Given the description of an element on the screen output the (x, y) to click on. 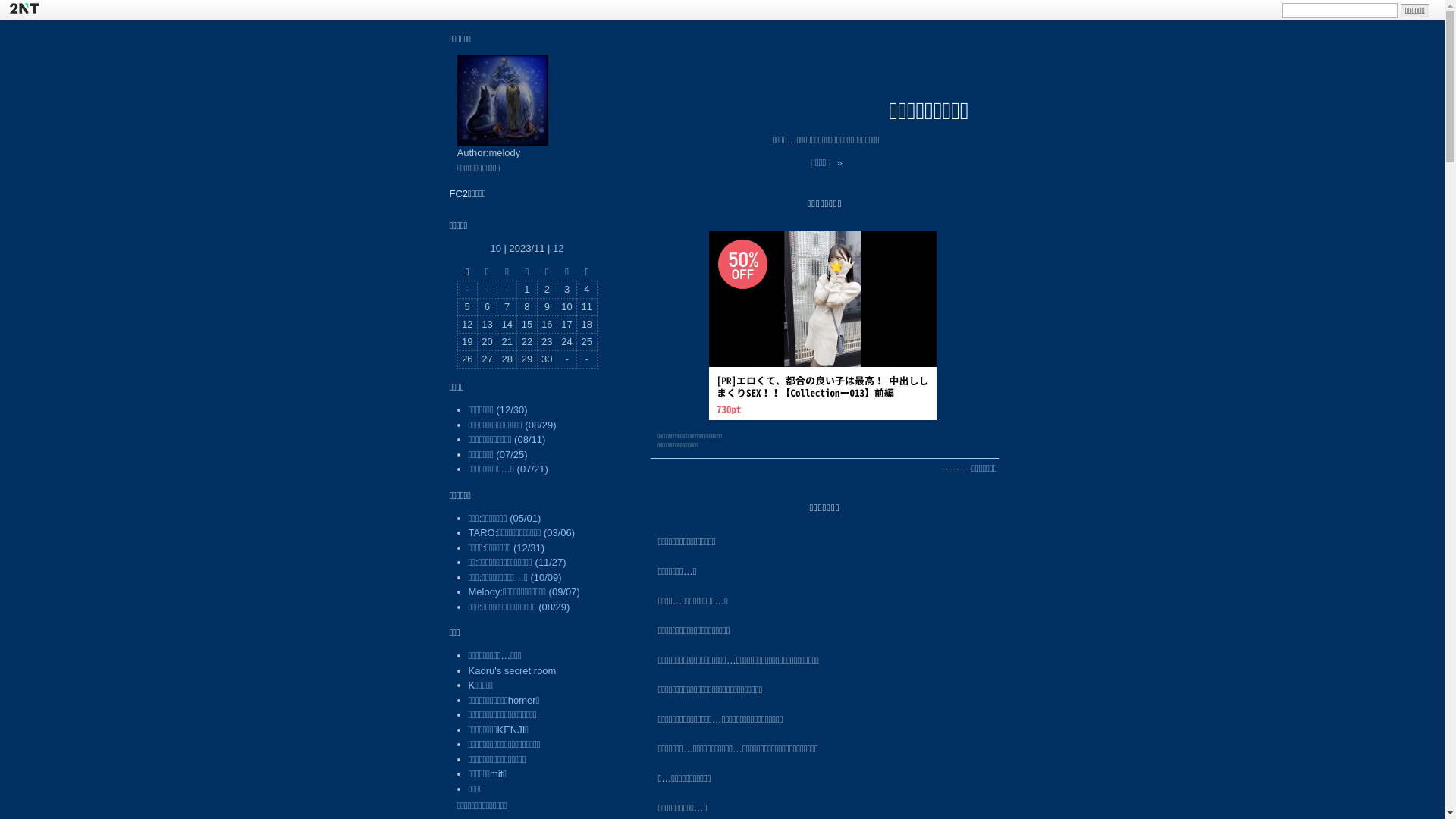
10 Element type: text (494, 248)
Kaoru's secret room Element type: text (512, 670)
12 Element type: text (557, 248)
